Given the description of an element on the screen output the (x, y) to click on. 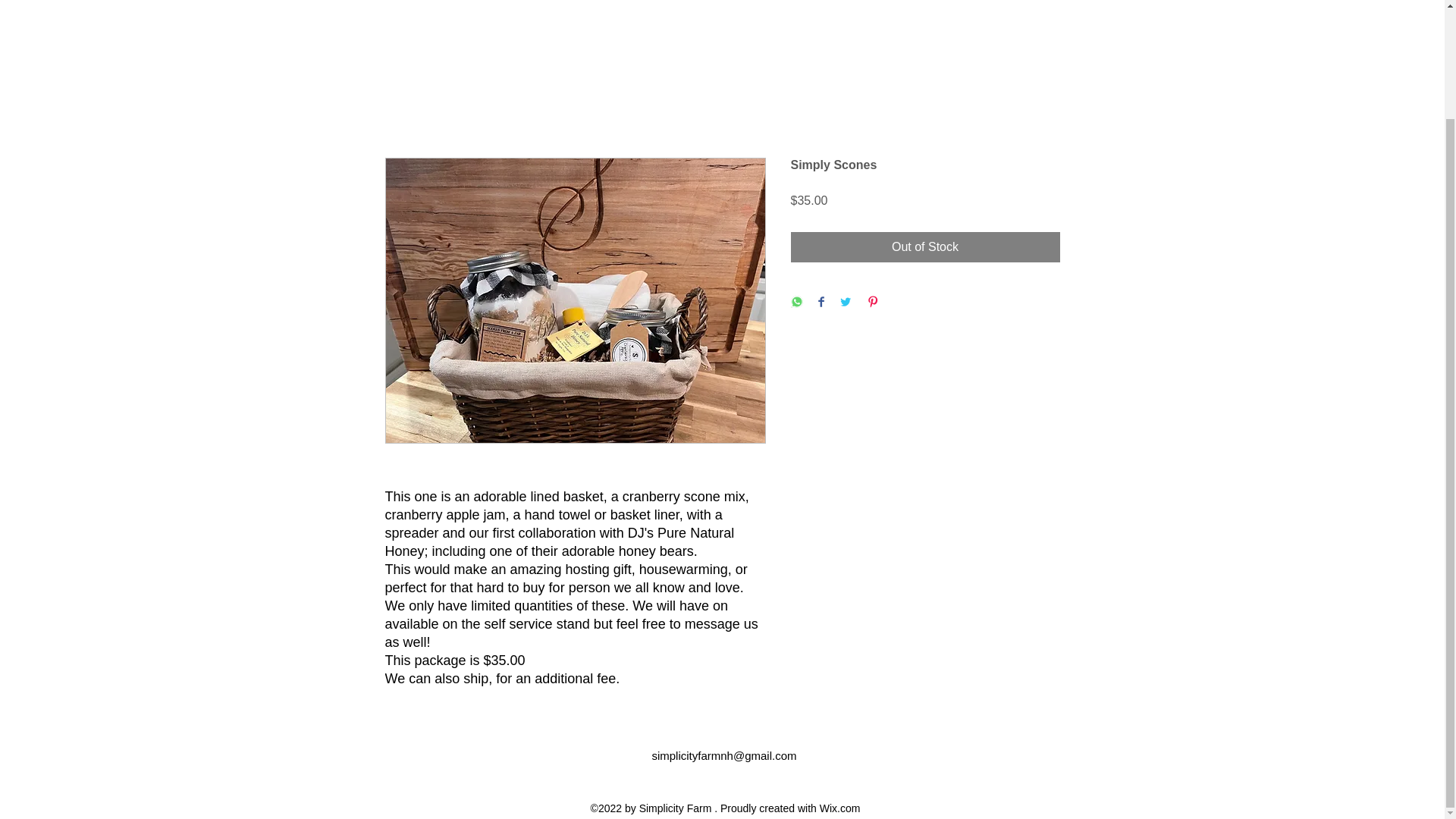
Products (711, 0)
About Us (599, 0)
Home (547, 0)
Contact (656, 0)
Gift Card (810, 0)
Out of Stock (924, 246)
